Given the description of an element on the screen output the (x, y) to click on. 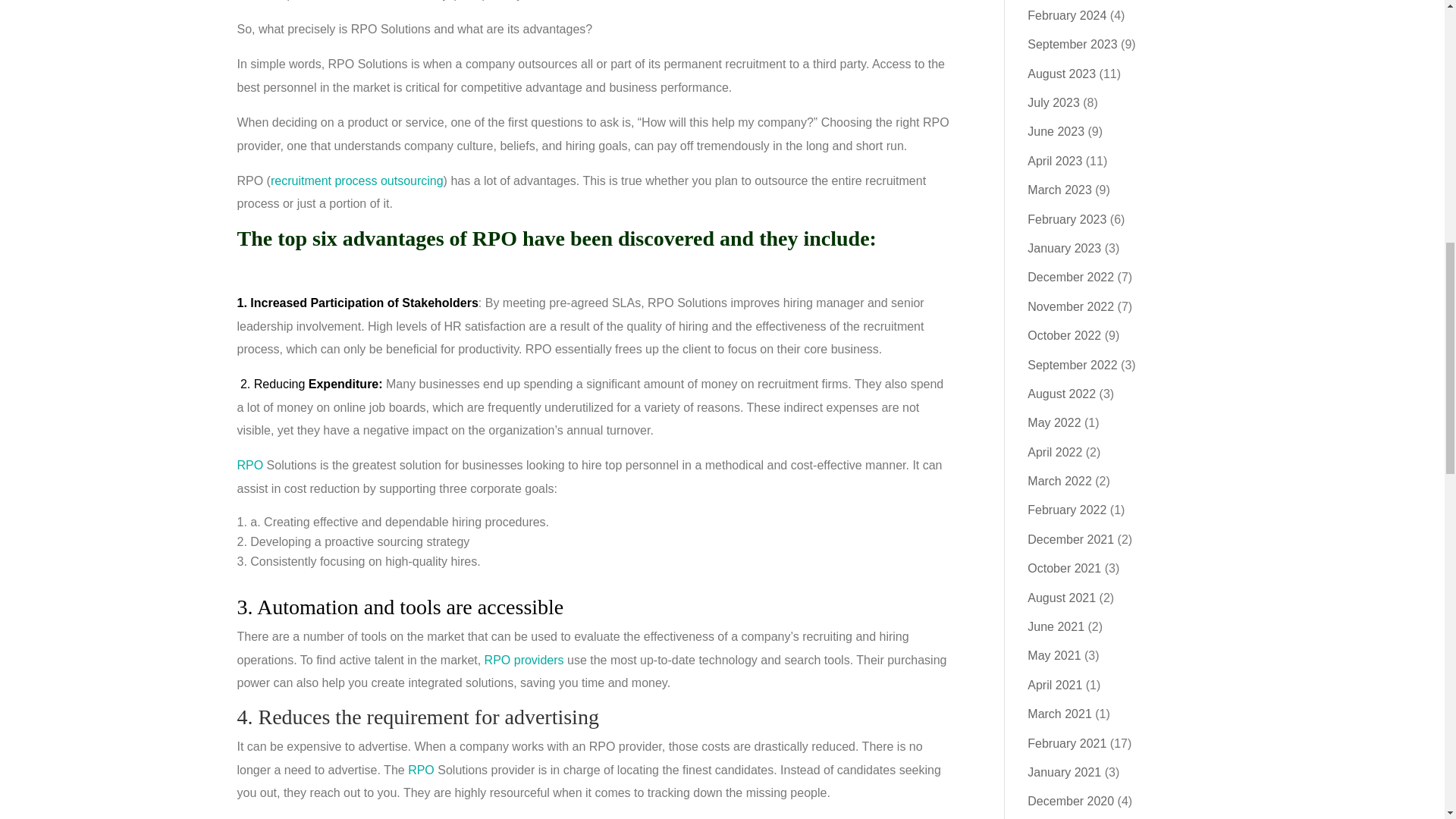
recruitment process outsourcing (357, 180)
August 2023 (1061, 73)
RPO (420, 769)
RPO providers (524, 659)
February 2024 (1066, 15)
September 2023 (1071, 43)
July 2023 (1053, 102)
RPO (249, 464)
